Given the description of an element on the screen output the (x, y) to click on. 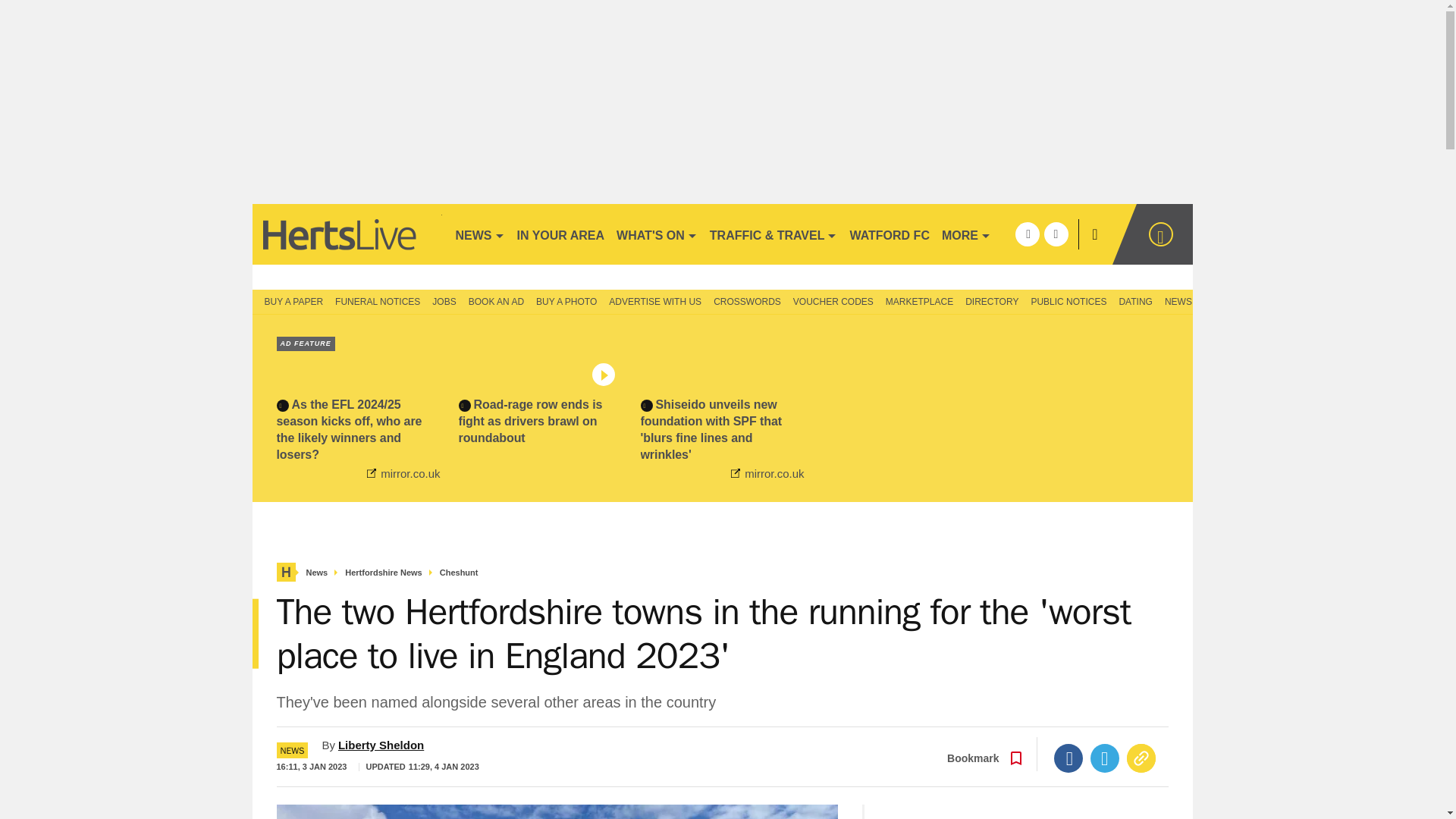
twitter (1055, 233)
NEWS (479, 233)
Twitter (1104, 758)
Facebook (1068, 758)
MORE (966, 233)
WHAT'S ON (656, 233)
WATFORD FC (888, 233)
IN YOUR AREA (561, 233)
hertfordshiremercury (346, 233)
facebook (1026, 233)
